Given the description of an element on the screen output the (x, y) to click on. 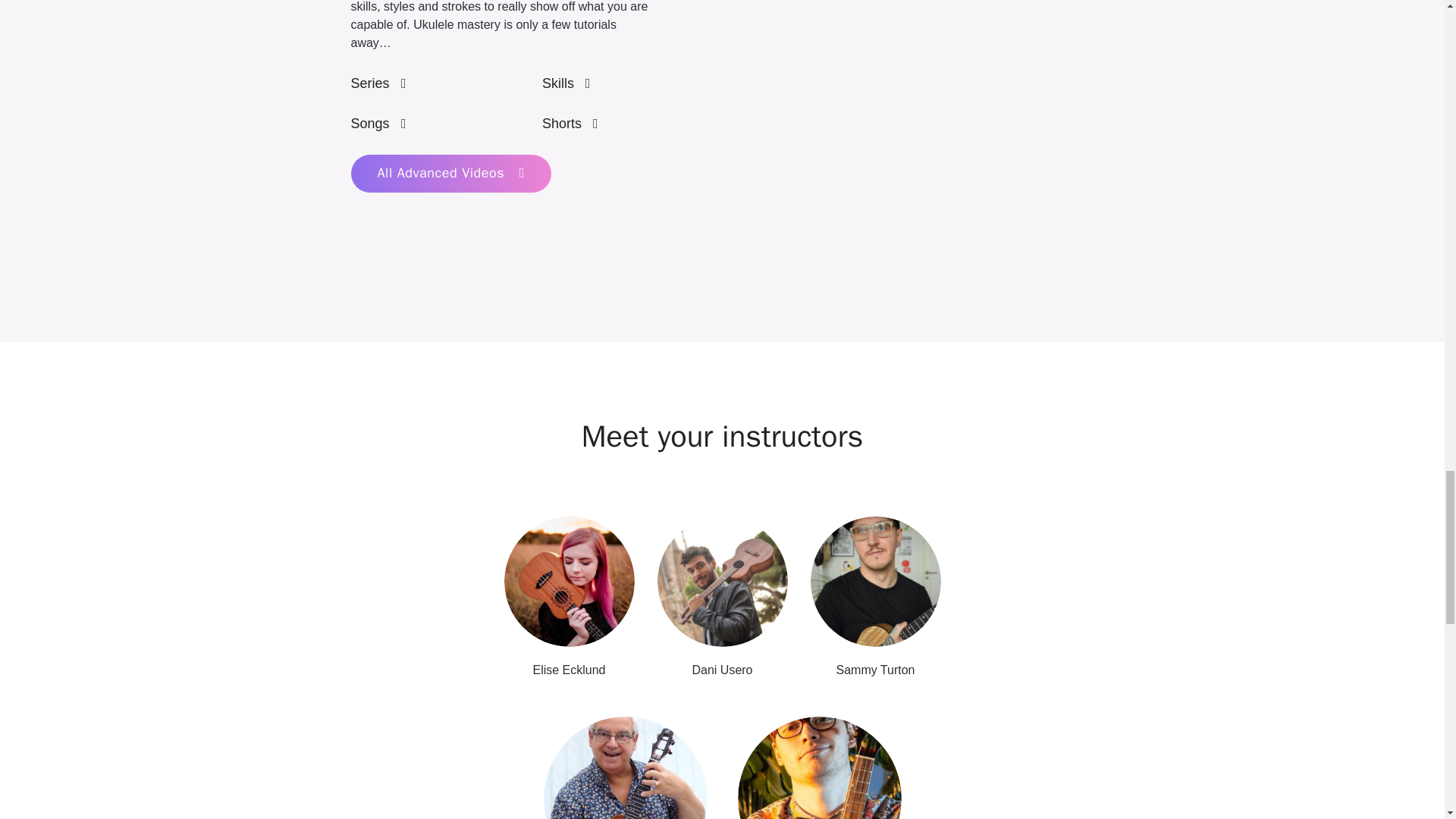
All Advanced Videos (450, 173)
Songs (378, 123)
Shorts (569, 123)
Skills (566, 83)
Songs (378, 123)
Series (378, 83)
Skills (566, 83)
Shorts (569, 123)
Series (378, 83)
